Given the description of an element on the screen output the (x, y) to click on. 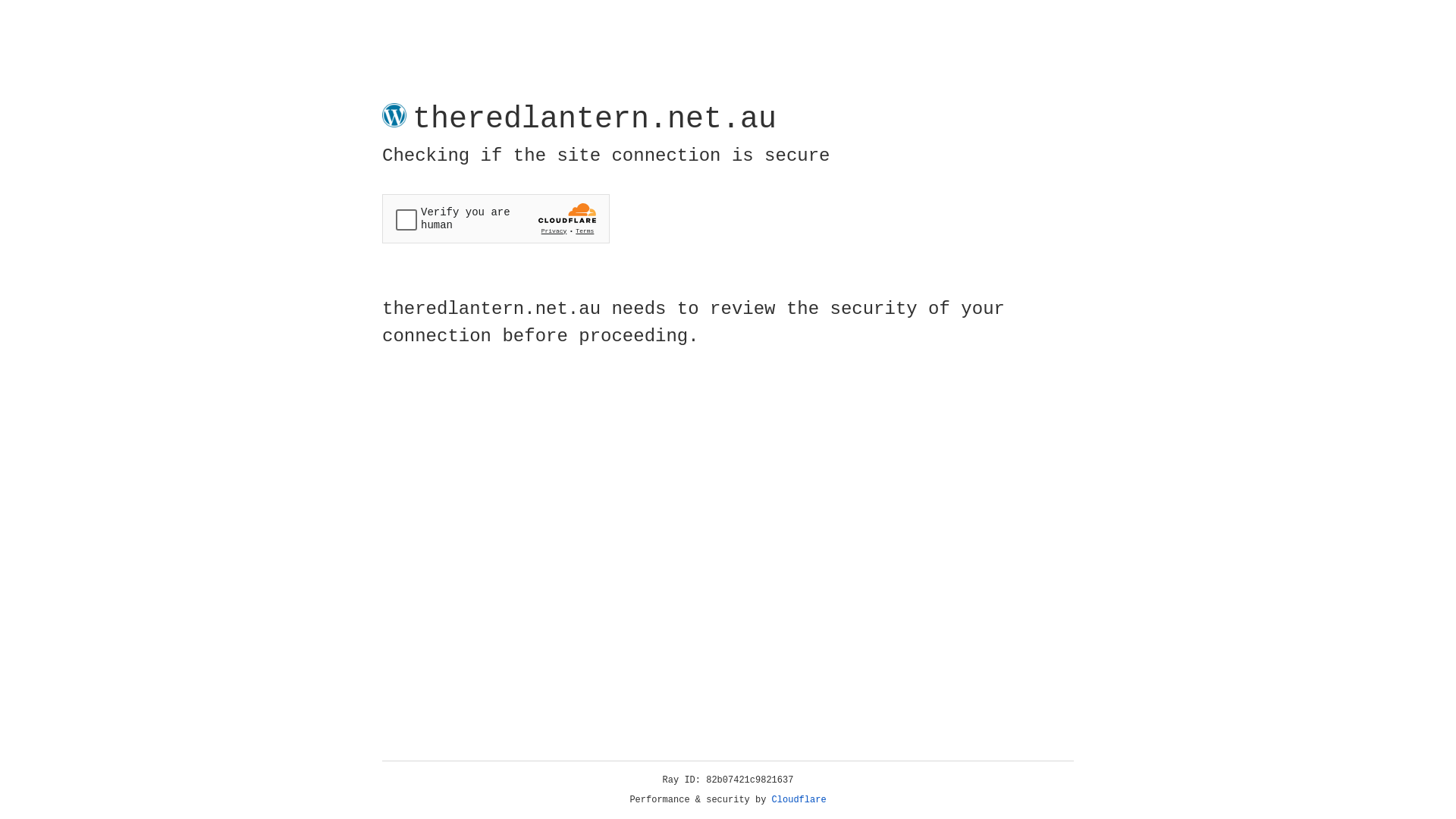
Widget containing a Cloudflare security challenge Element type: hover (495, 218)
Cloudflare Element type: text (798, 799)
